Given the description of an element on the screen output the (x, y) to click on. 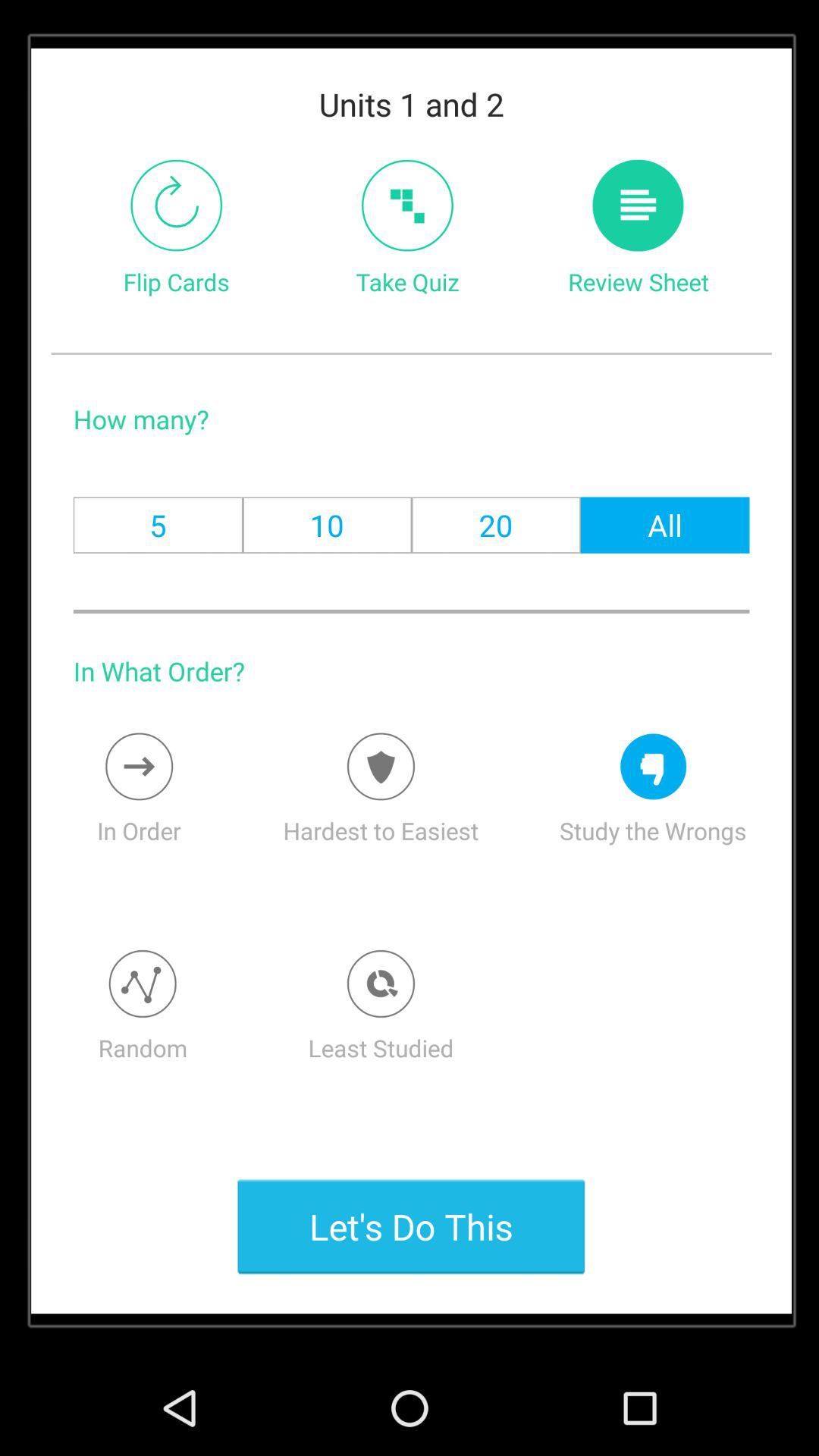
select the option (380, 983)
